Given the description of an element on the screen output the (x, y) to click on. 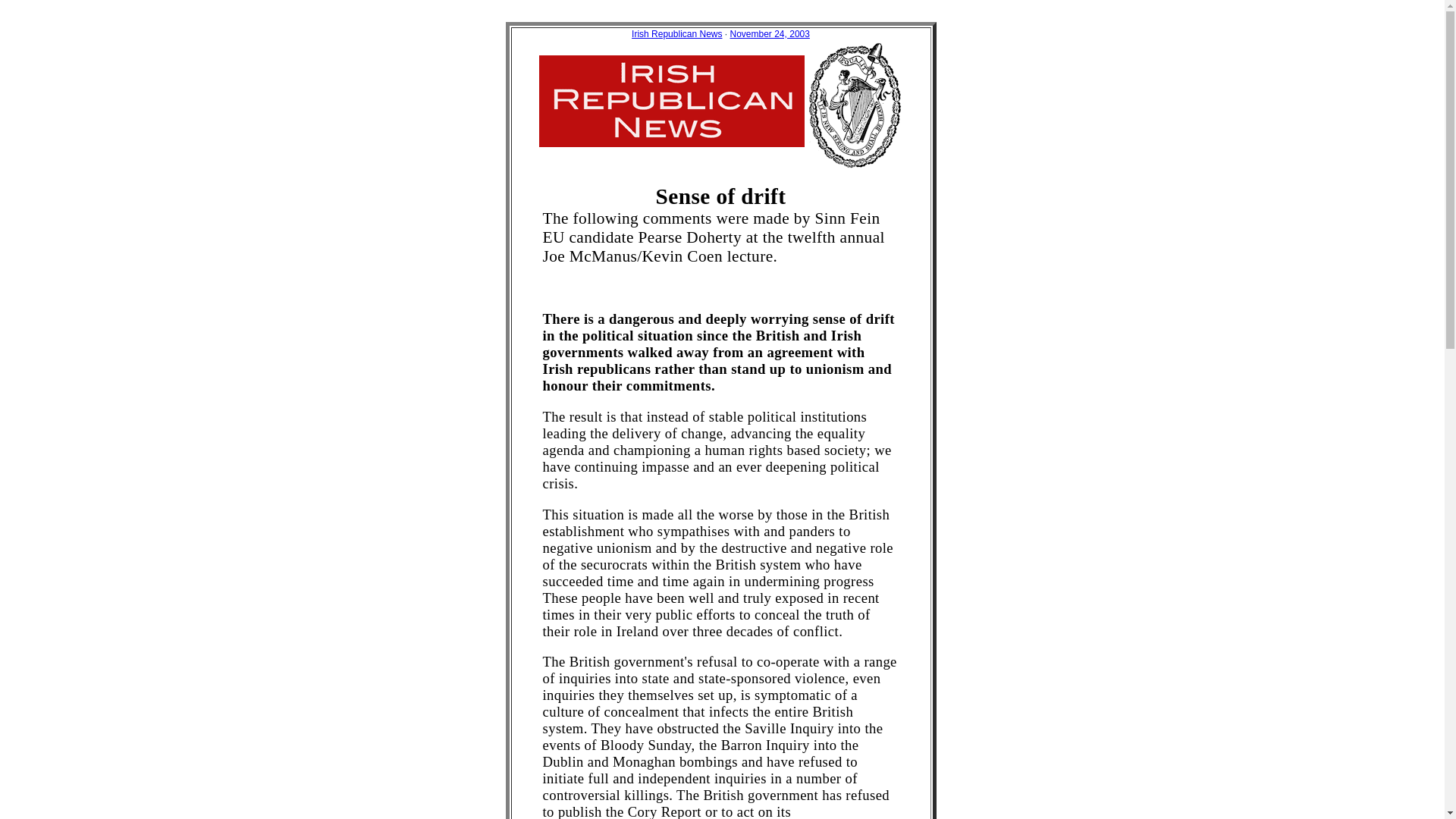
Irish Republican News (676, 33)
November 24, 2003 (769, 33)
